Given the description of an element on the screen output the (x, y) to click on. 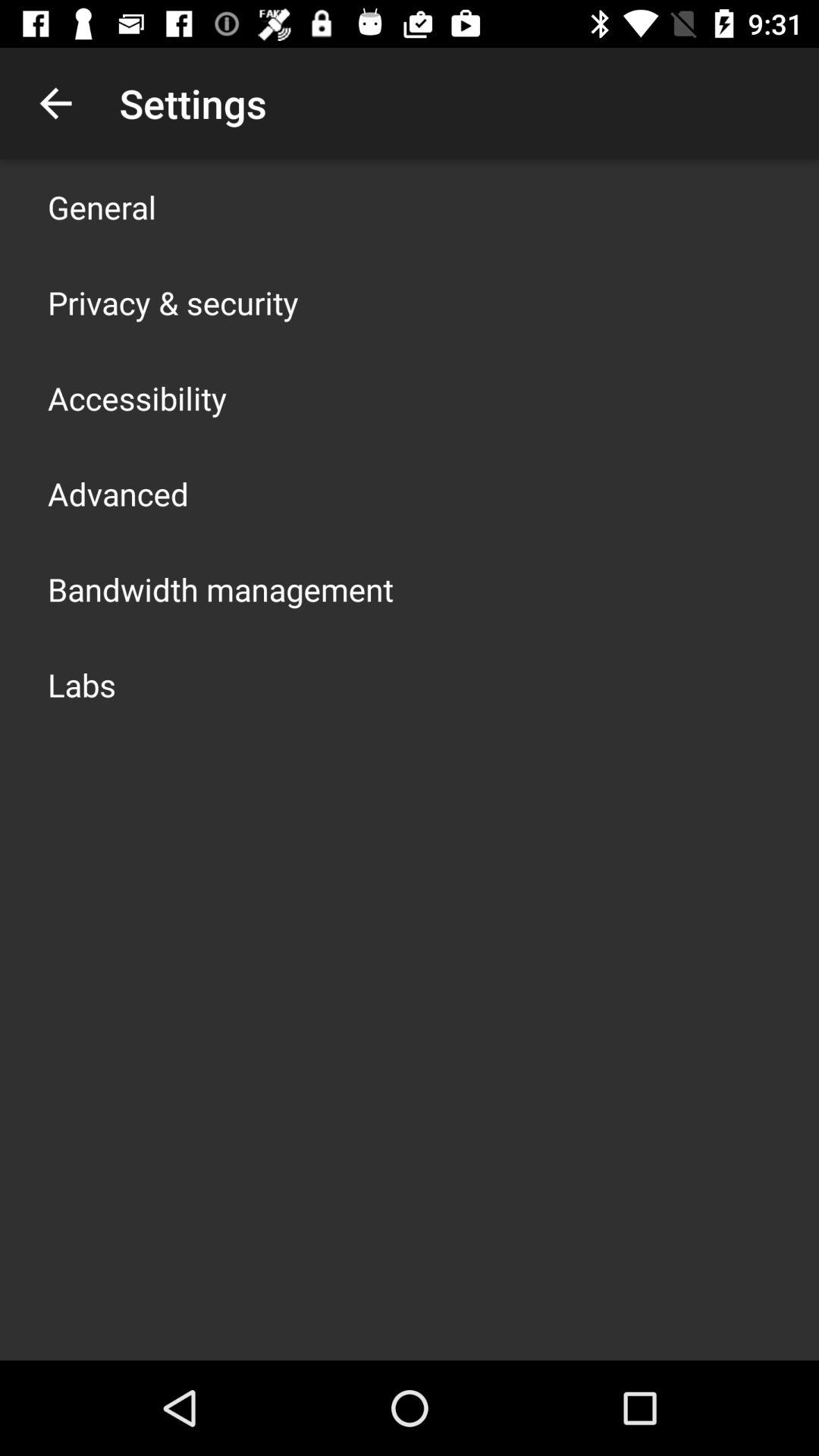
turn off app above accessibility item (172, 302)
